Given the description of an element on the screen output the (x, y) to click on. 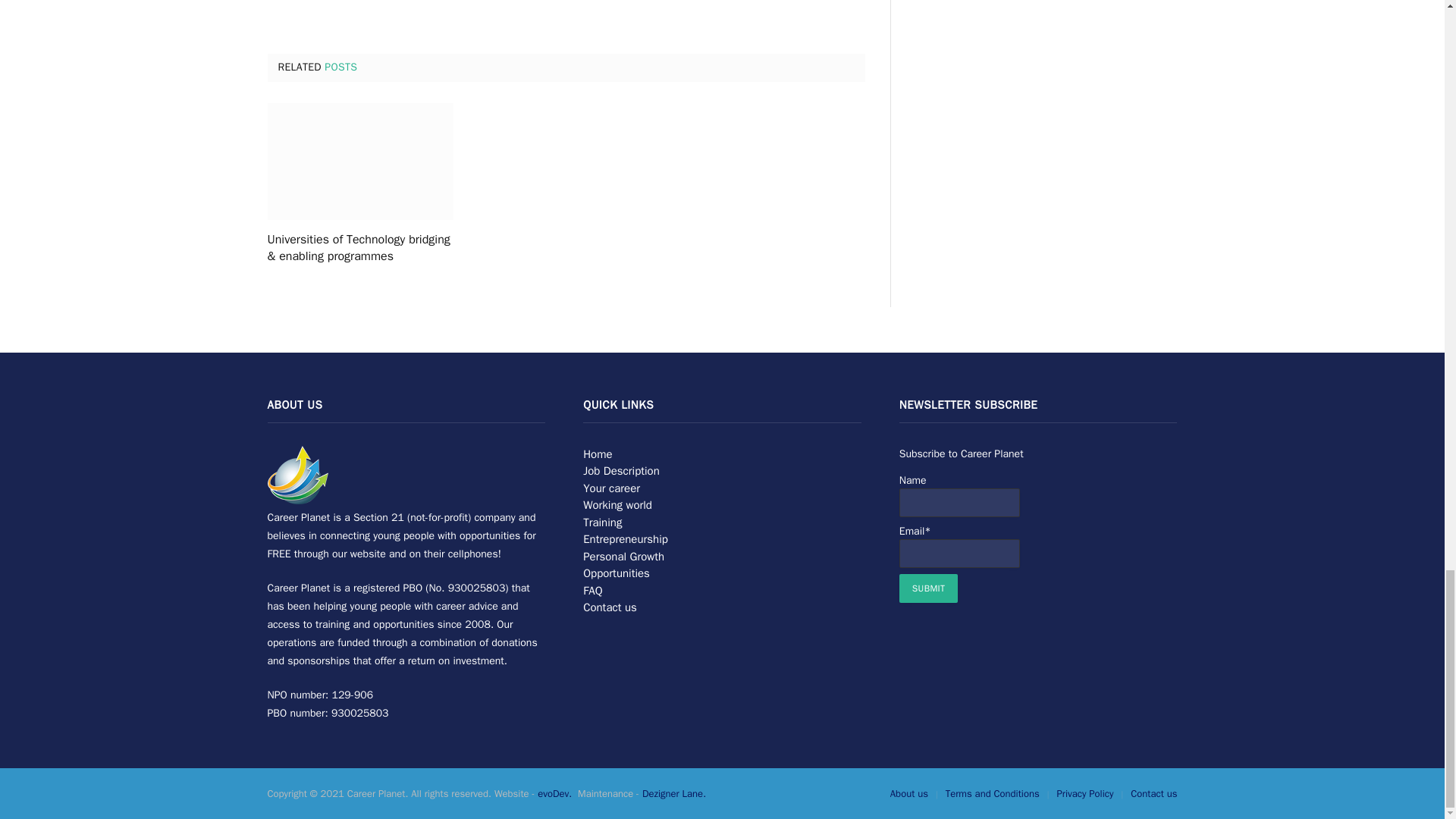
Submit (928, 588)
